Given the description of an element on the screen output the (x, y) to click on. 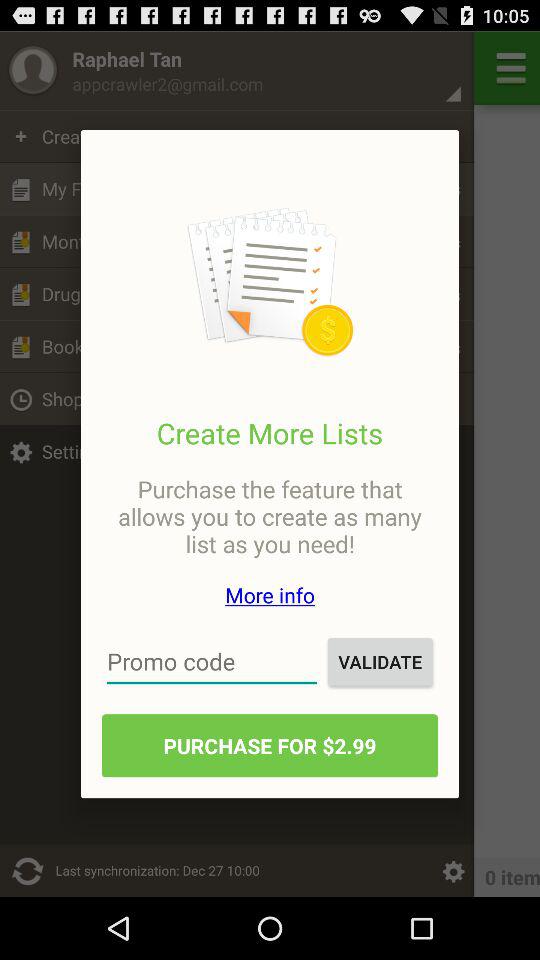
turn off the icon next to validate item (212, 661)
